Given the description of an element on the screen output the (x, y) to click on. 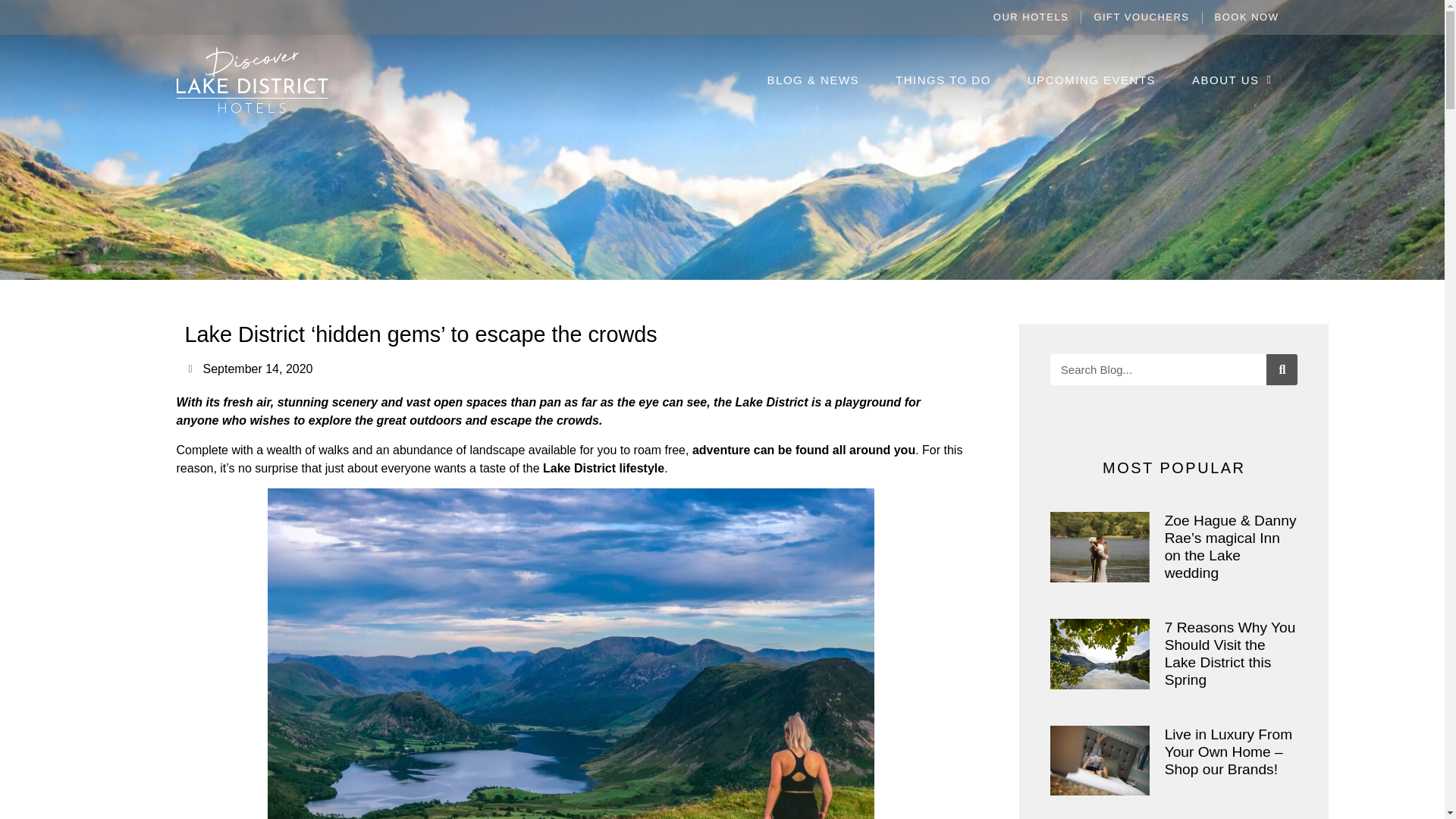
ABOUT US (1231, 80)
7 Reasons Why You Should Visit the Lake District this Spring (1229, 653)
OUR HOTELS (1031, 17)
BOOK NOW (1246, 17)
THINGS TO DO (943, 80)
UPCOMING EVENTS (1090, 80)
September 14, 2020 (250, 369)
GIFT VOUCHERS (1141, 17)
